Given the description of an element on the screen output the (x, y) to click on. 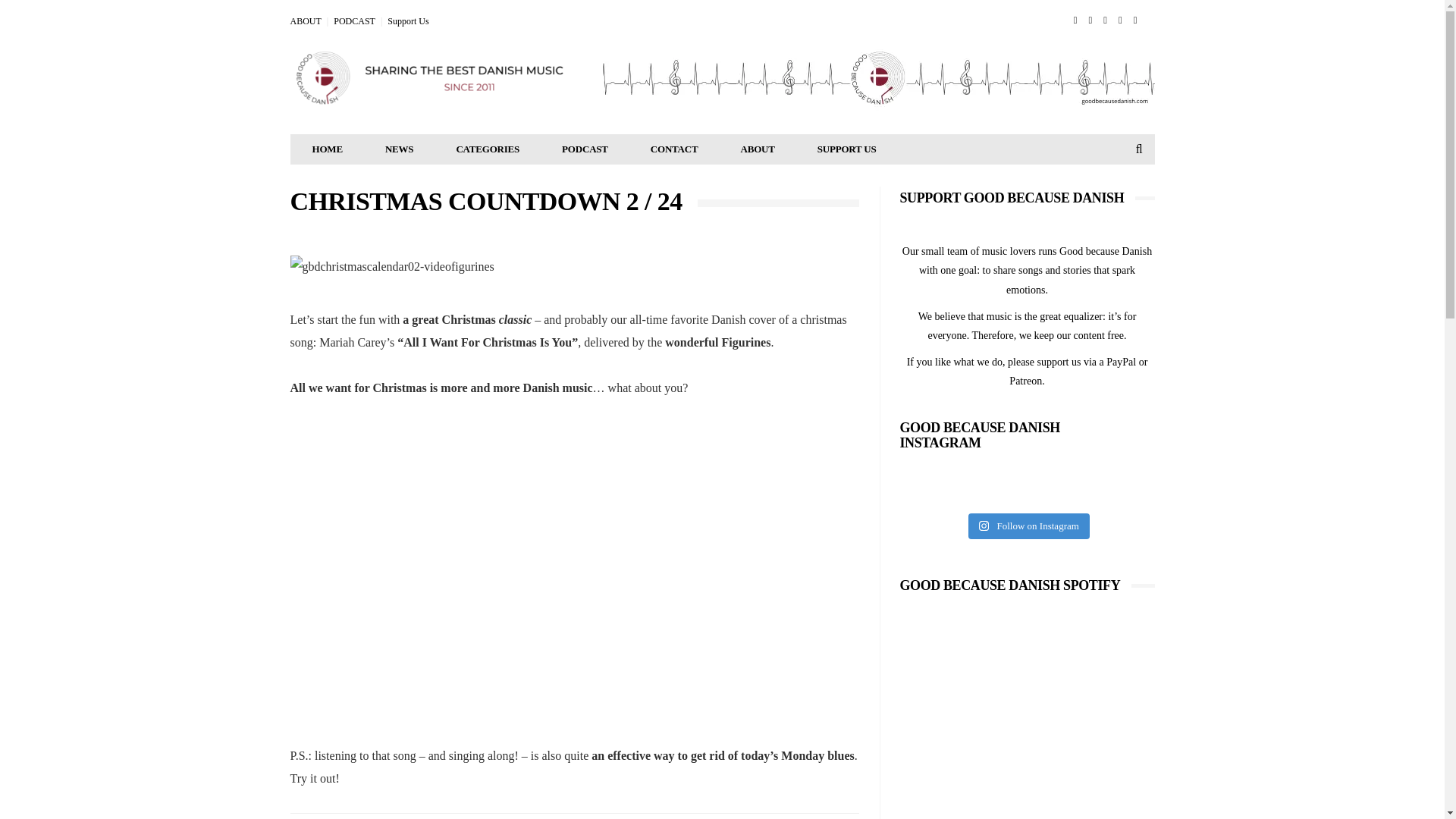
SUPPORT US (847, 149)
CONTACT (673, 149)
NEWS (399, 149)
HOME (327, 149)
Support Us (407, 20)
PODCAST (584, 149)
ABOUT (756, 149)
CATEGORIES (486, 149)
PODCAST (354, 20)
ABOUT (304, 20)
